Given the description of an element on the screen output the (x, y) to click on. 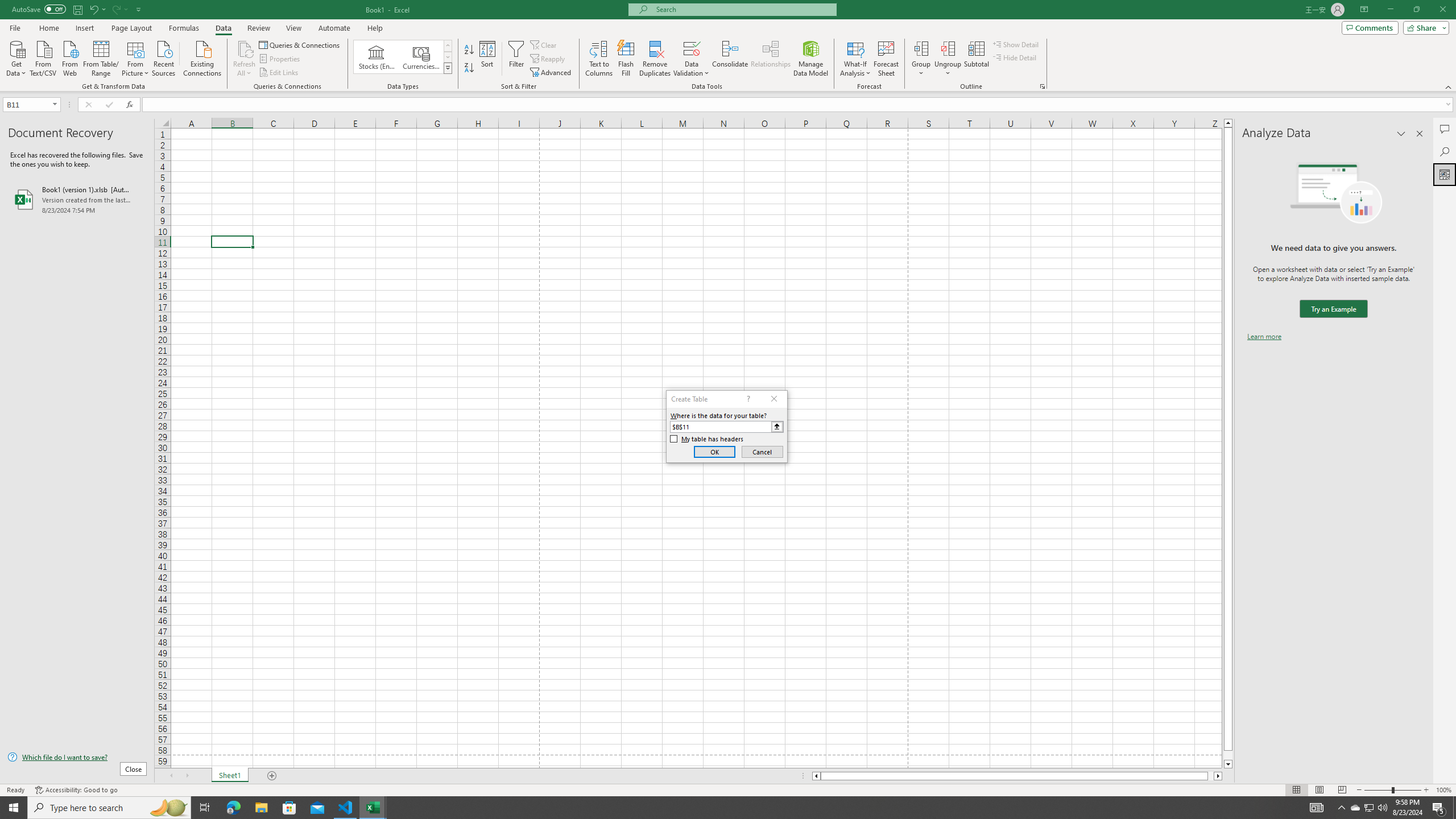
Consolidate... (729, 58)
From Picture (135, 57)
